Given the description of an element on the screen output the (x, y) to click on. 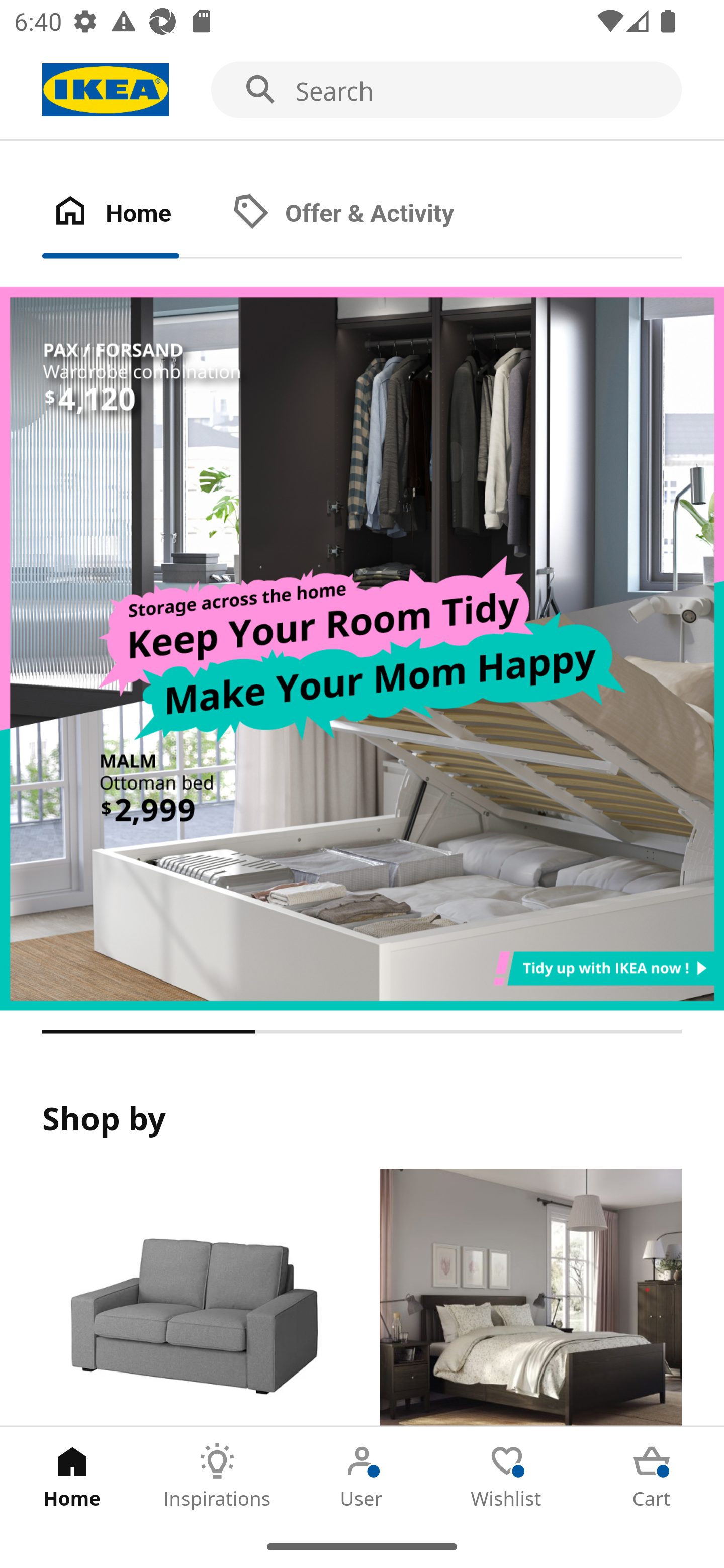
Search (361, 90)
Home
Tab 1 of 2 (131, 213)
Offer & Activity
Tab 2 of 2 (363, 213)
Products (192, 1297)
Rooms (530, 1297)
Home
Tab 1 of 5 (72, 1476)
Inspirations
Tab 2 of 5 (216, 1476)
User
Tab 3 of 5 (361, 1476)
Wishlist
Tab 4 of 5 (506, 1476)
Cart
Tab 5 of 5 (651, 1476)
